Given the description of an element on the screen output the (x, y) to click on. 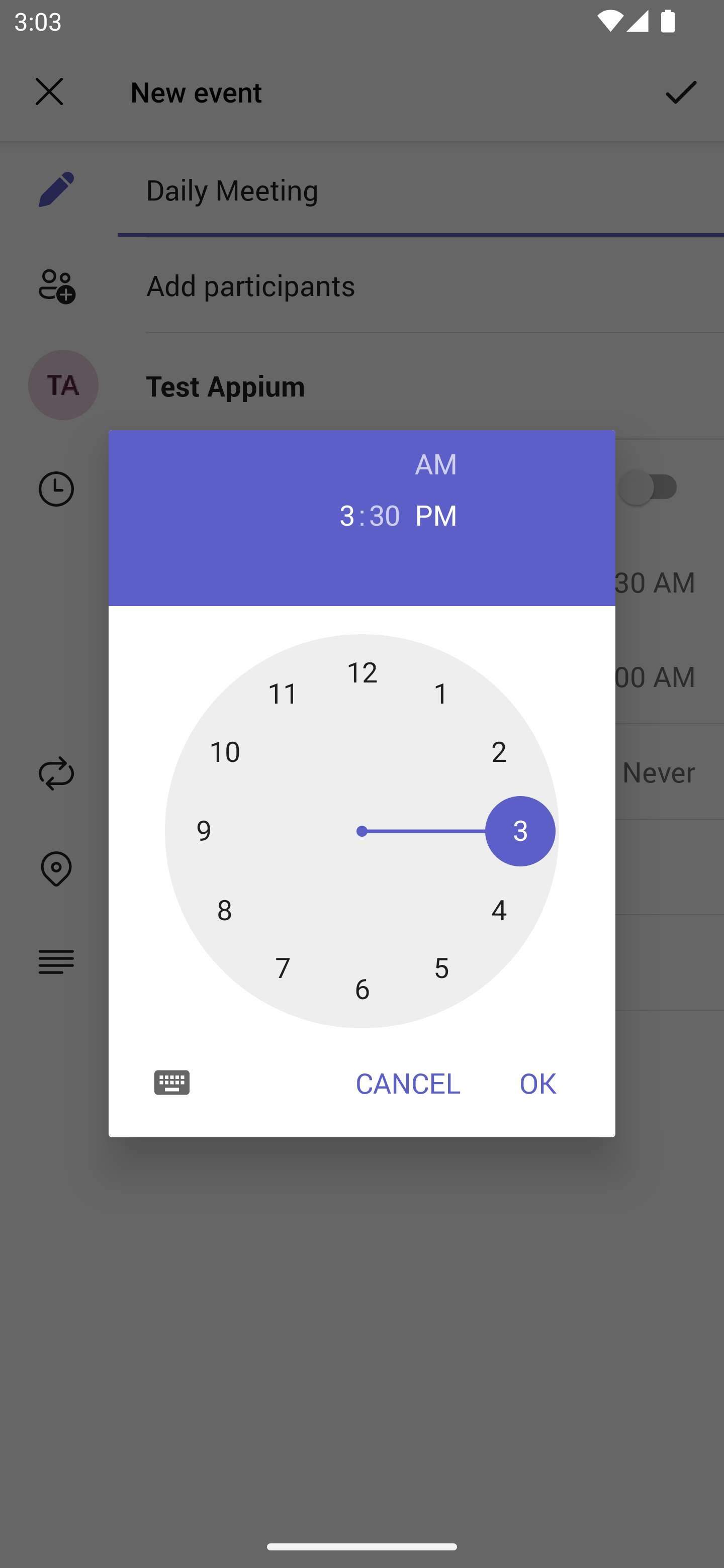
AM (435, 463)
PM (435, 514)
3 (338, 514)
30 (384, 514)
CANCEL (407, 1082)
OK (537, 1082)
Switch to text input mode for the time input. (171, 1081)
